Given the description of an element on the screen output the (x, y) to click on. 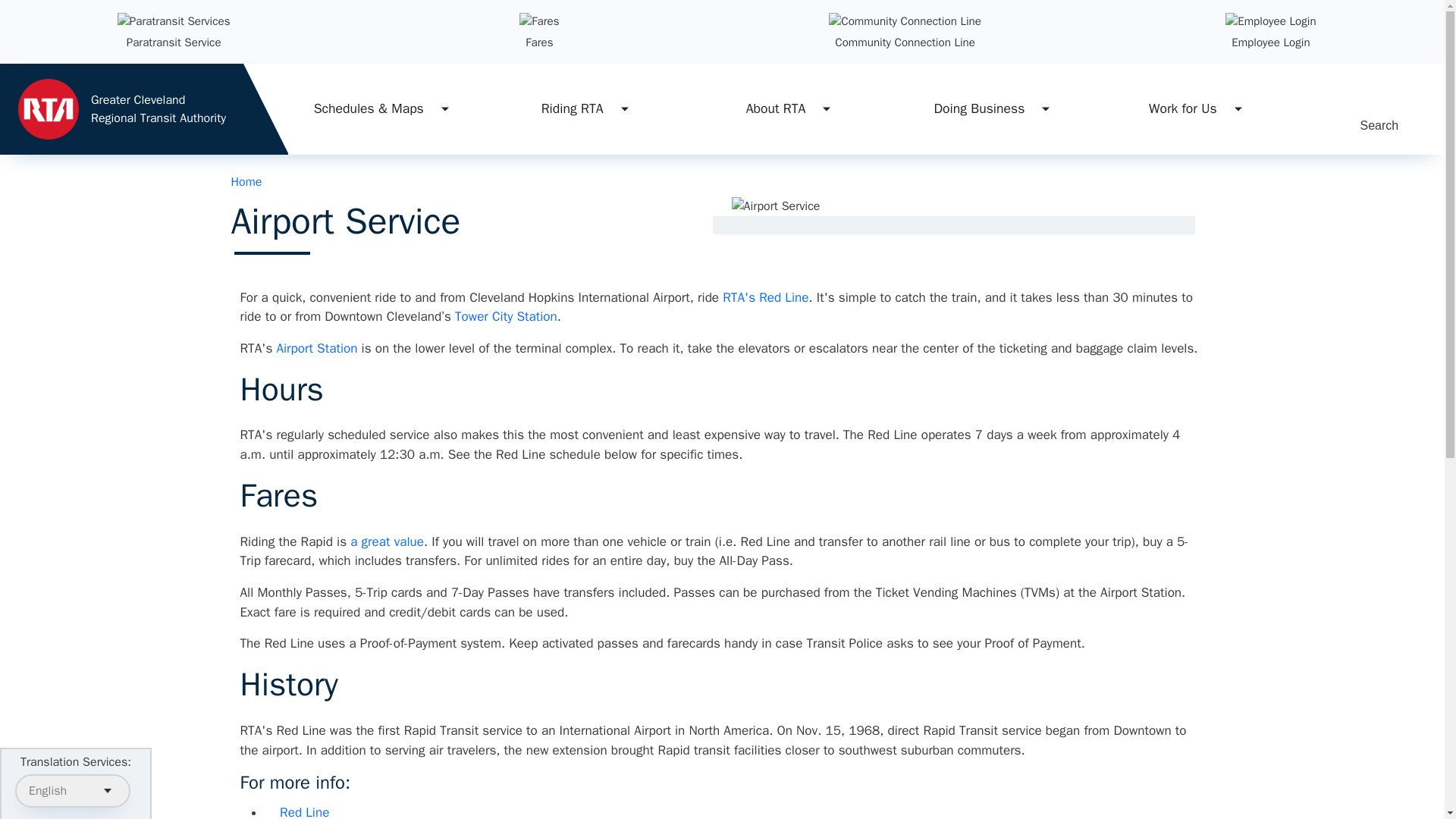
Paratransit Service (173, 42)
Fares (539, 42)
Community Connection Line (904, 42)
Employee Login (1269, 42)
Image (904, 21)
Image (539, 21)
Image (1270, 21)
Image (144, 108)
